Given the description of an element on the screen output the (x, y) to click on. 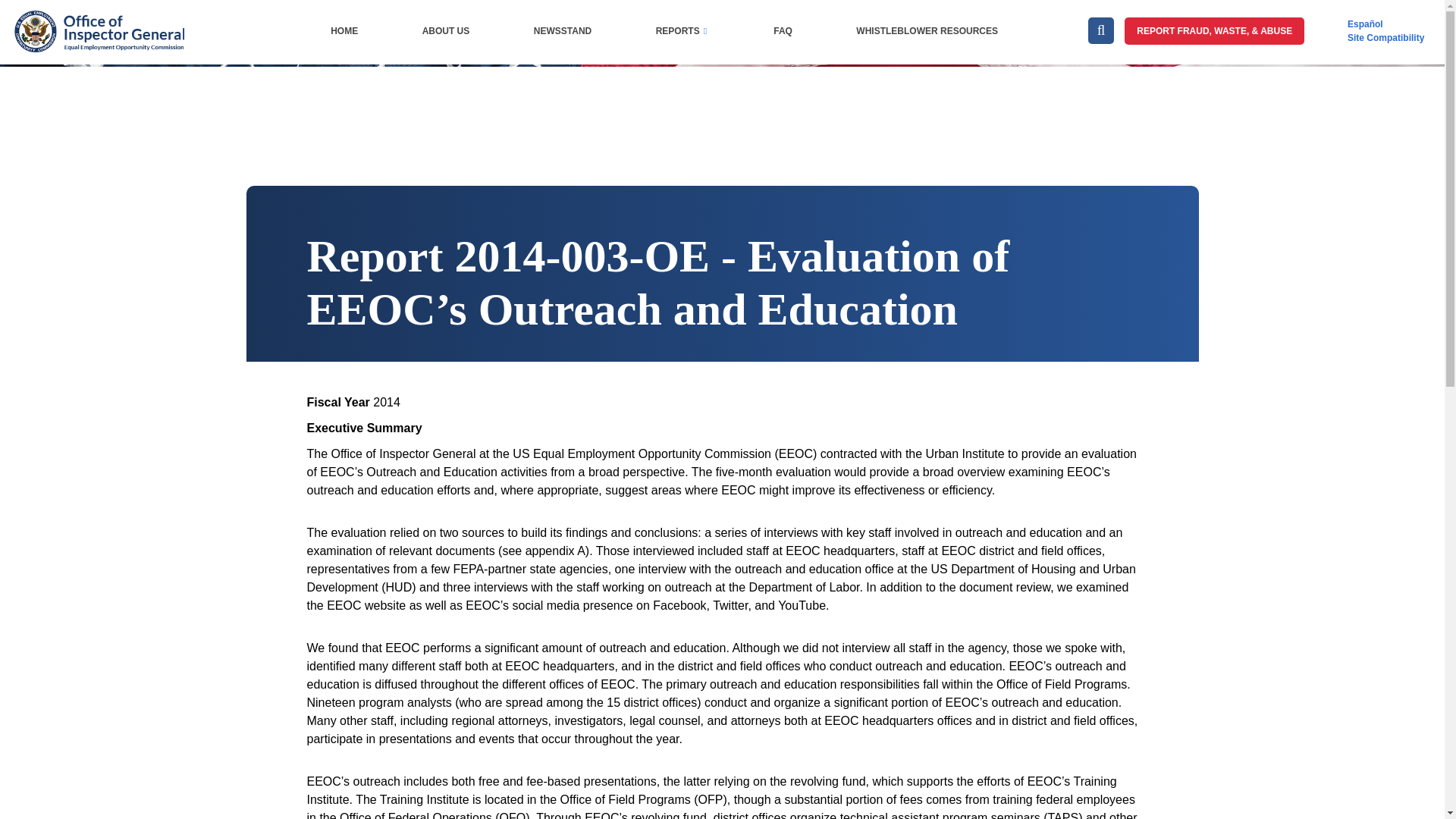
Home (97, 18)
Site Compatibility (1386, 38)
FAQ (782, 31)
NEWSSTAND (563, 31)
WHISTLEBLOWER RESOURCES (926, 31)
ABOUT US (445, 31)
HOME (344, 31)
REPORTS (682, 31)
